Given the description of an element on the screen output the (x, y) to click on. 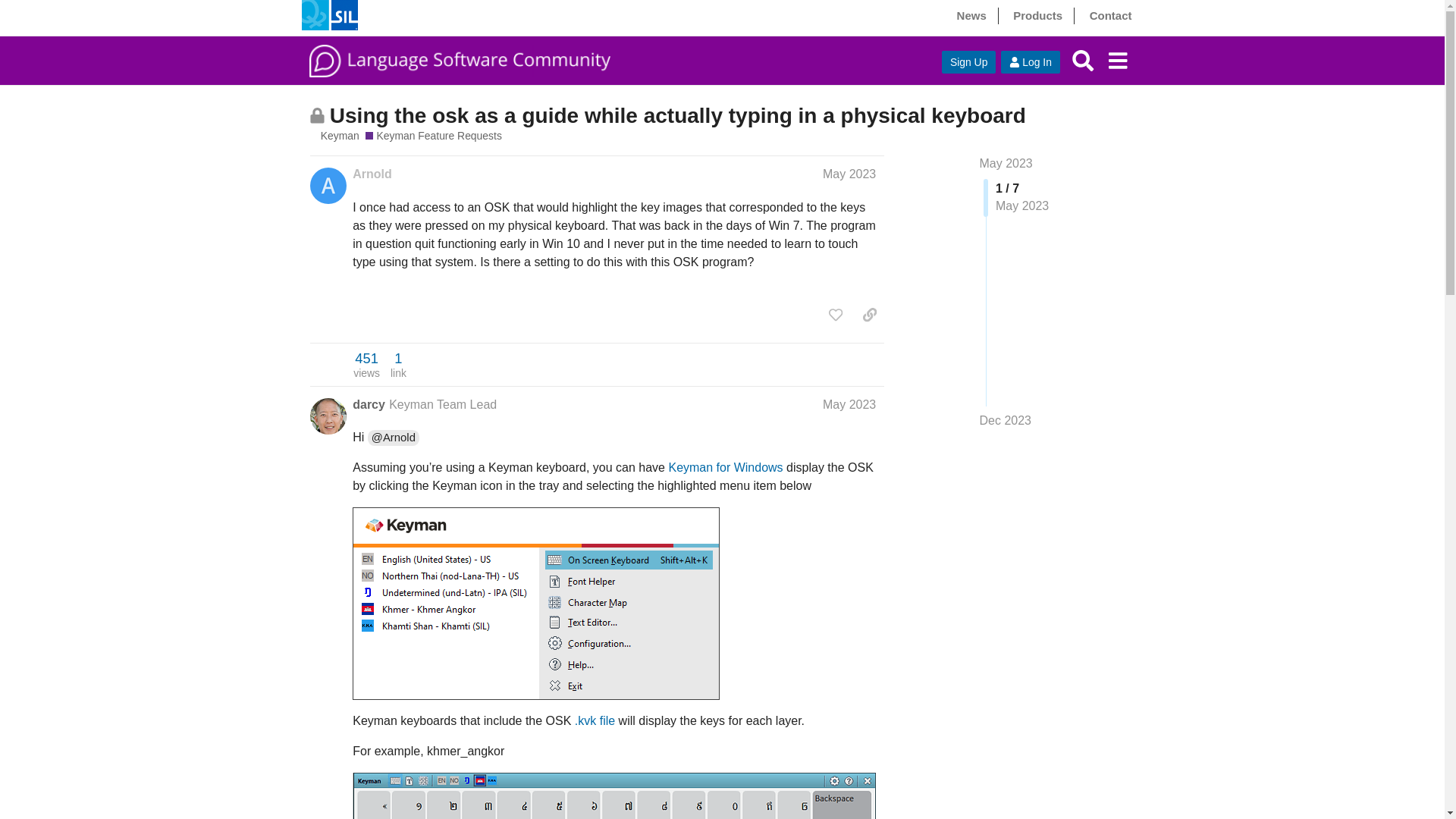
May 2023 (1005, 163)
May 2023 (849, 173)
darcy (368, 404)
Jump to the last post (1005, 420)
Products (1037, 15)
menu (1117, 60)
copy a link to this post to clipboard (869, 314)
Search (1082, 60)
Arnold (371, 174)
Keyman Feature Requests (433, 135)
